Given the description of an element on the screen output the (x, y) to click on. 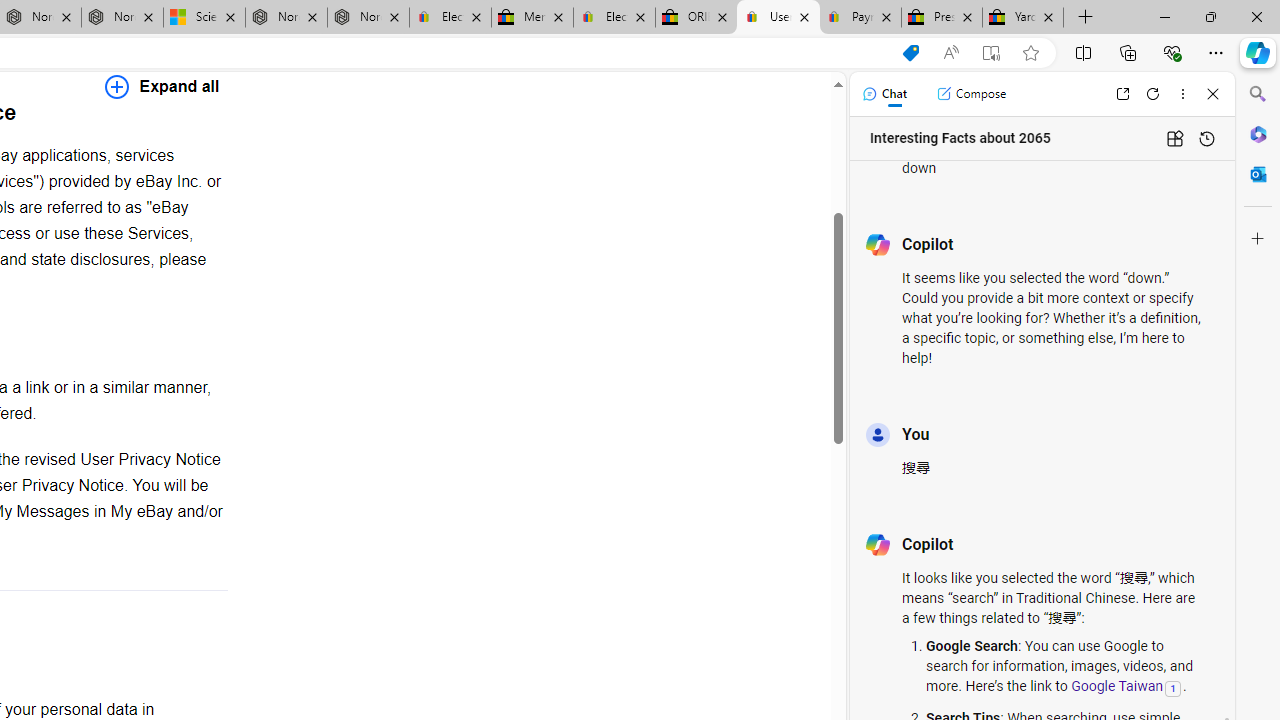
User Privacy Notice | eBay (778, 17)
Expand all (162, 86)
